Given the description of an element on the screen output the (x, y) to click on. 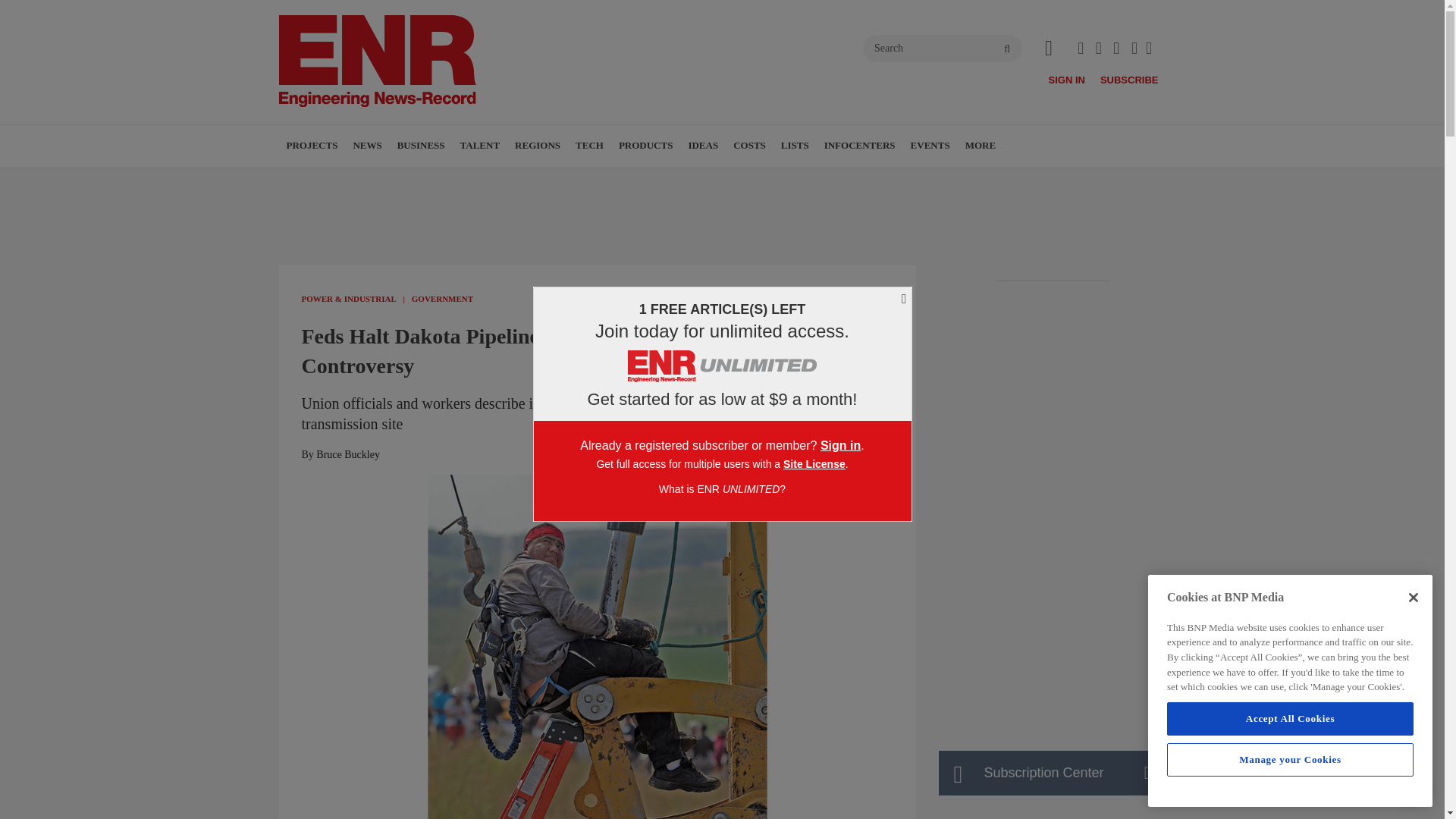
Search (942, 48)
Search (942, 48)
